Given the description of an element on the screen output the (x, y) to click on. 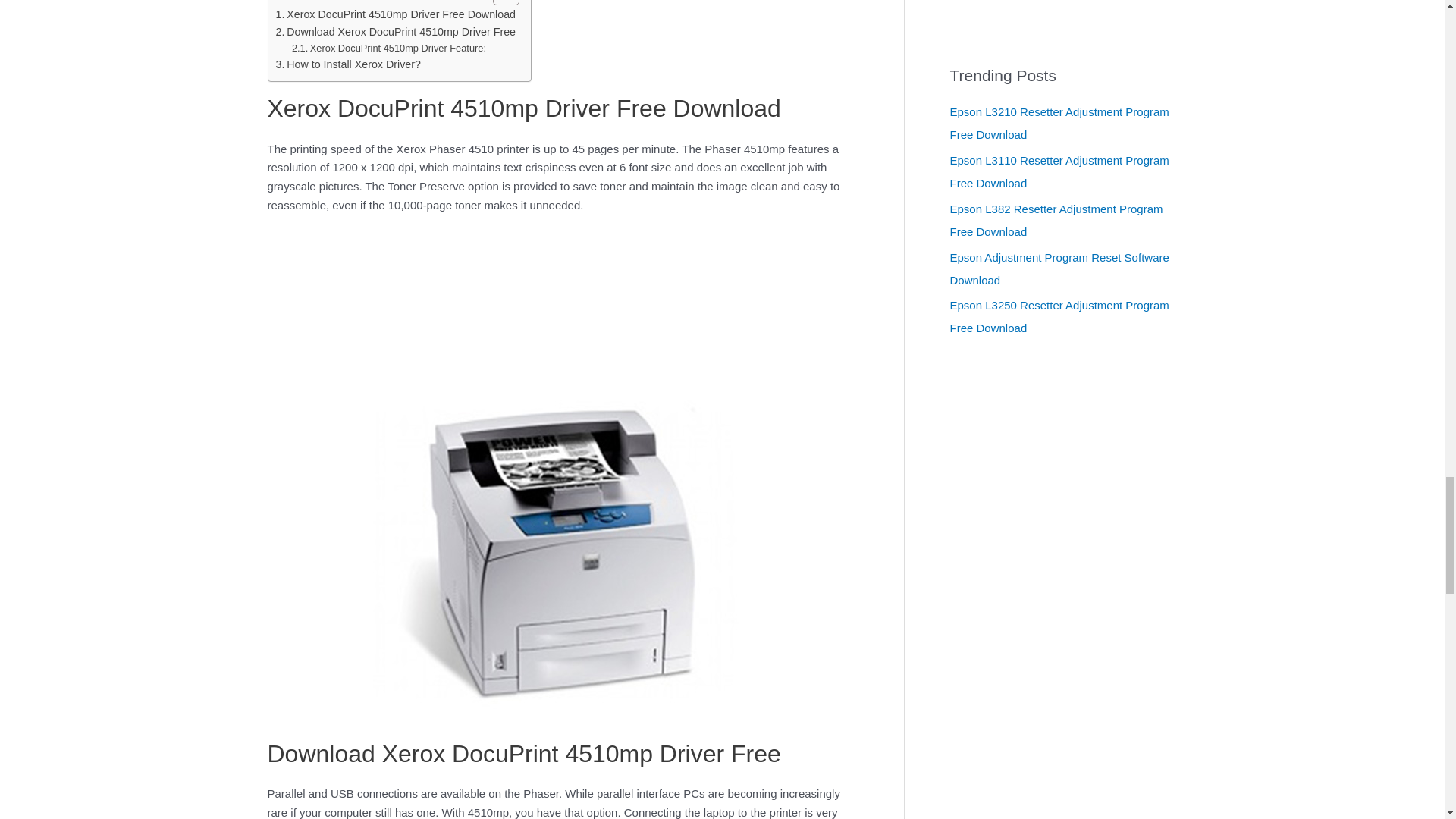
Download Xerox DocuPrint 4510mp Driver Free (396, 31)
Xerox DocuPrint 4510mp Driver Free Download (396, 14)
Xerox DocuPrint 4510mp Driver Feature: (389, 48)
